Given the description of an element on the screen output the (x, y) to click on. 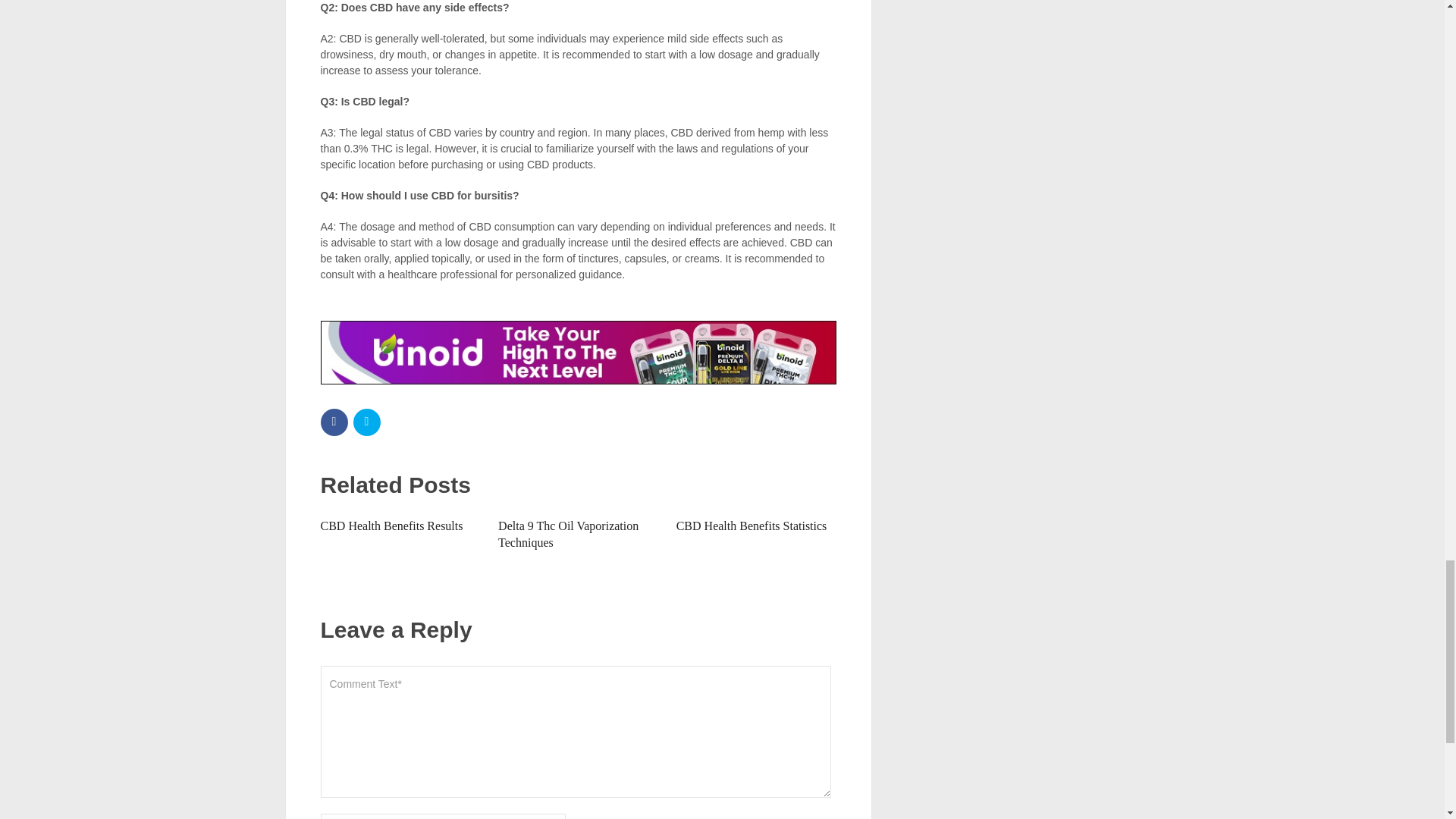
Delta 9 Thc Oil Vaporization Techniques (568, 533)
CBD Health Benefits Statistics (752, 525)
CBD Health Benefits Statistics (752, 525)
CBD Health Benefits Results (391, 525)
CBD Health Benefits Results (391, 525)
Delta 9 Thc Oil Vaporization Techniques (568, 533)
